Given the description of an element on the screen output the (x, y) to click on. 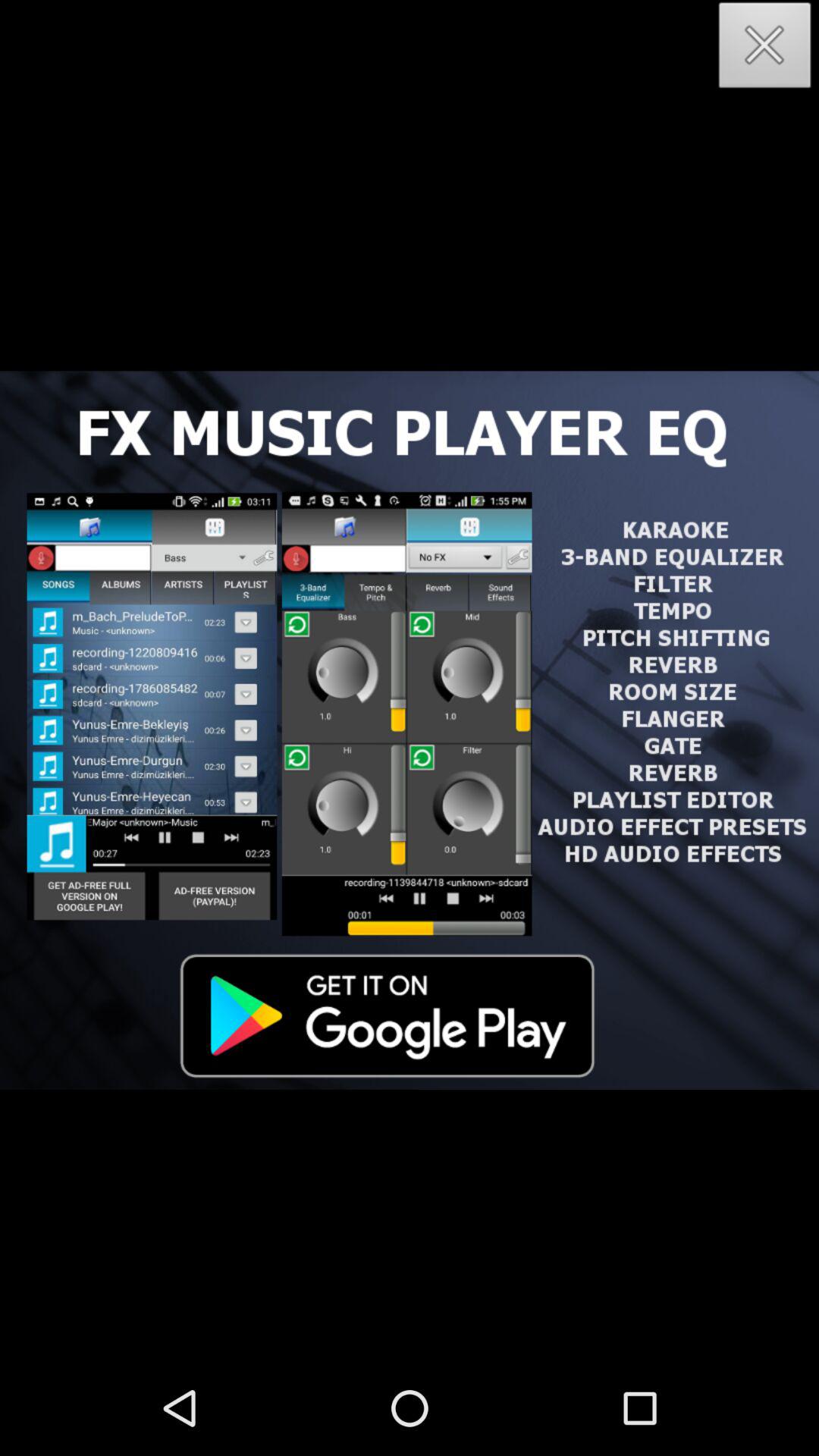
exit (765, 49)
